Given the description of an element on the screen output the (x, y) to click on. 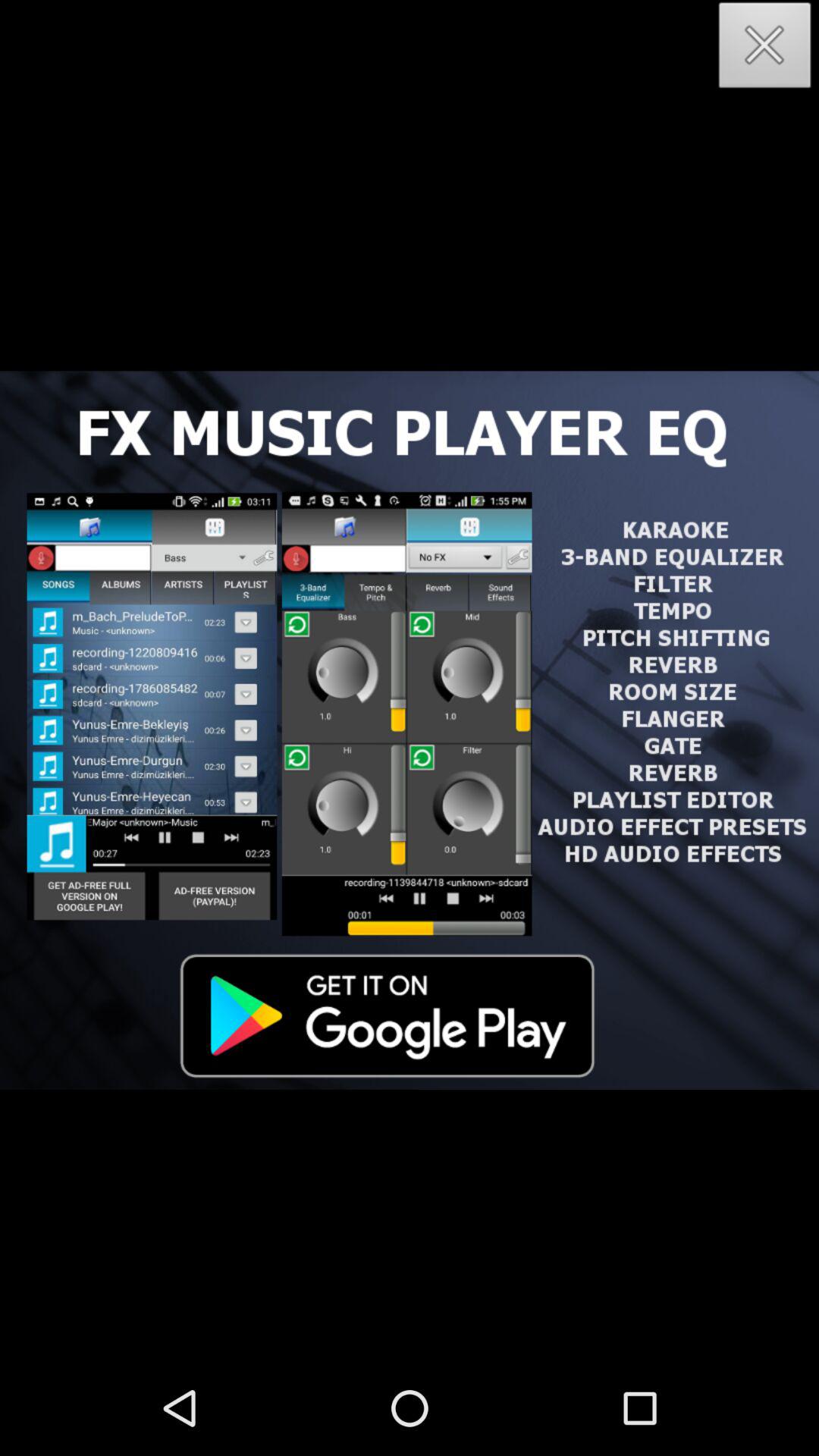
exit (765, 49)
